Given the description of an element on the screen output the (x, y) to click on. 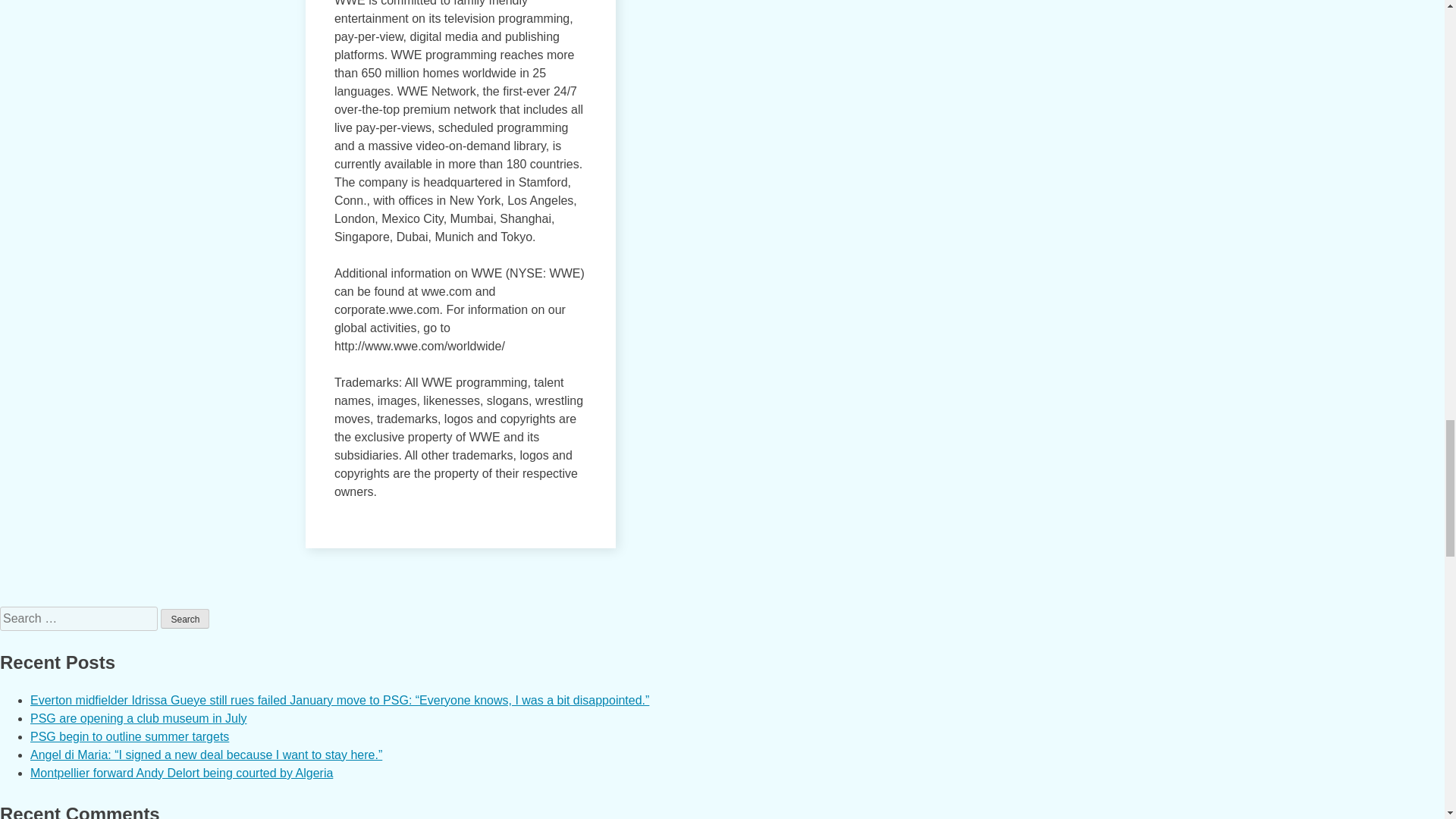
Search (184, 618)
Search (184, 618)
PSG are opening a club museum in July (138, 717)
PSG begin to outline summer targets (129, 736)
Search (184, 618)
Montpellier forward Andy Delort being courted by Algeria (181, 772)
